Given the description of an element on the screen output the (x, y) to click on. 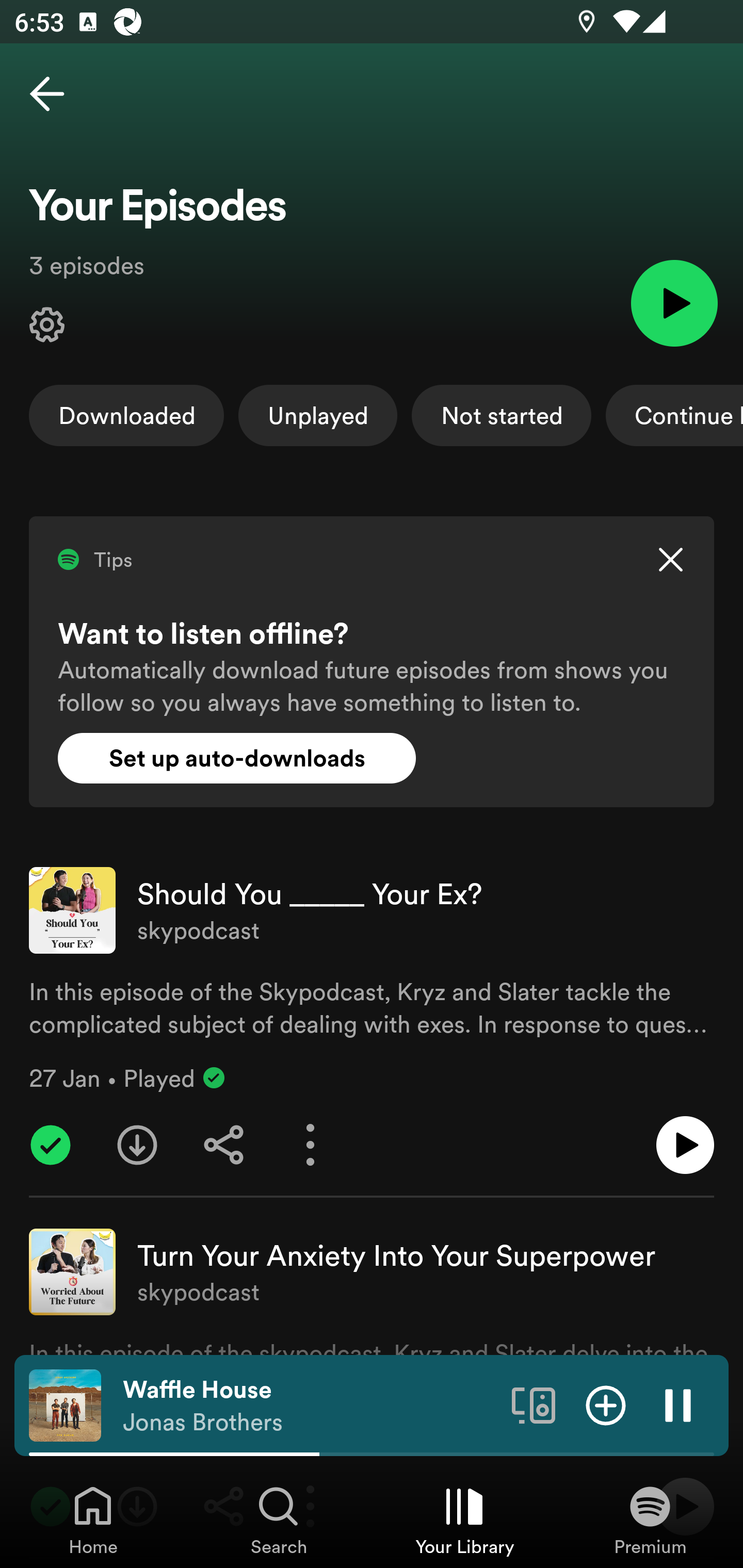
Back (46, 93)
Play (674, 302)
Your Episodes (46, 325)
Downloaded; show only downloaded episodes (125, 414)
Unplayed; show only unplayed episodes (317, 414)
Not started; show only not started episodes (501, 414)
Continue listening; show only episodes in progress (674, 414)
Dismiss (670, 559)
Set up auto-downloads (236, 758)
Should You _____ Your Ex? added to Your Episodes (50, 1145)
Download episode: Should You _____ Your Ex? (136, 1145)
Share (223, 1145)
More options for episode Should You _____ Your Ex? (310, 1145)
Play episode: Should You _____ Your Ex? (684, 1145)
Waffle House Jonas Brothers (309, 1405)
The cover art of the currently playing track (64, 1404)
Connect to a device. Opens the devices menu (533, 1404)
Add item (605, 1404)
Pause (677, 1404)
Home, Tab 1 of 4 Home Home (92, 1519)
Search, Tab 2 of 4 Search Search (278, 1519)
Your Library, Tab 3 of 4 Your Library Your Library (464, 1519)
Premium, Tab 4 of 4 Premium Premium (650, 1519)
